Given the description of an element on the screen output the (x, y) to click on. 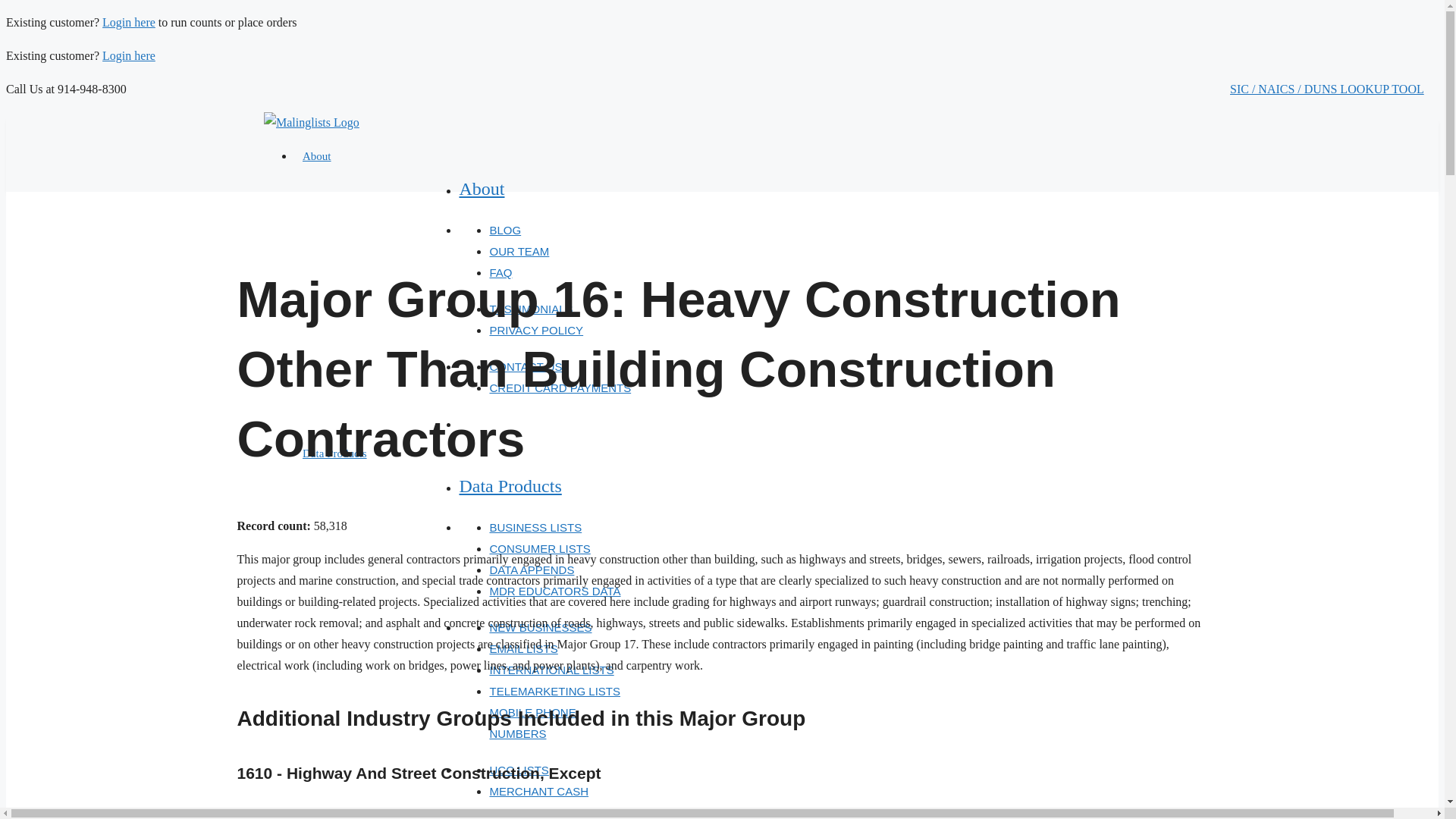
About (480, 189)
BLOG (505, 229)
Login here (128, 21)
PRIVACY POLICY (536, 329)
CONSUMER LISTS (539, 548)
BUSINESS LISTS (534, 526)
Data Products (509, 485)
DATA APPENDS (531, 569)
MERCHANT CASH ADVANCE (538, 801)
CONTACT US (525, 366)
MDR EDUCATORS DATA (554, 590)
FAQ (500, 272)
MOBILE PHONE NUMBERS (532, 722)
CREDIT CARD PAYMENTS (559, 387)
Login here (128, 55)
